Given the description of an element on the screen output the (x, y) to click on. 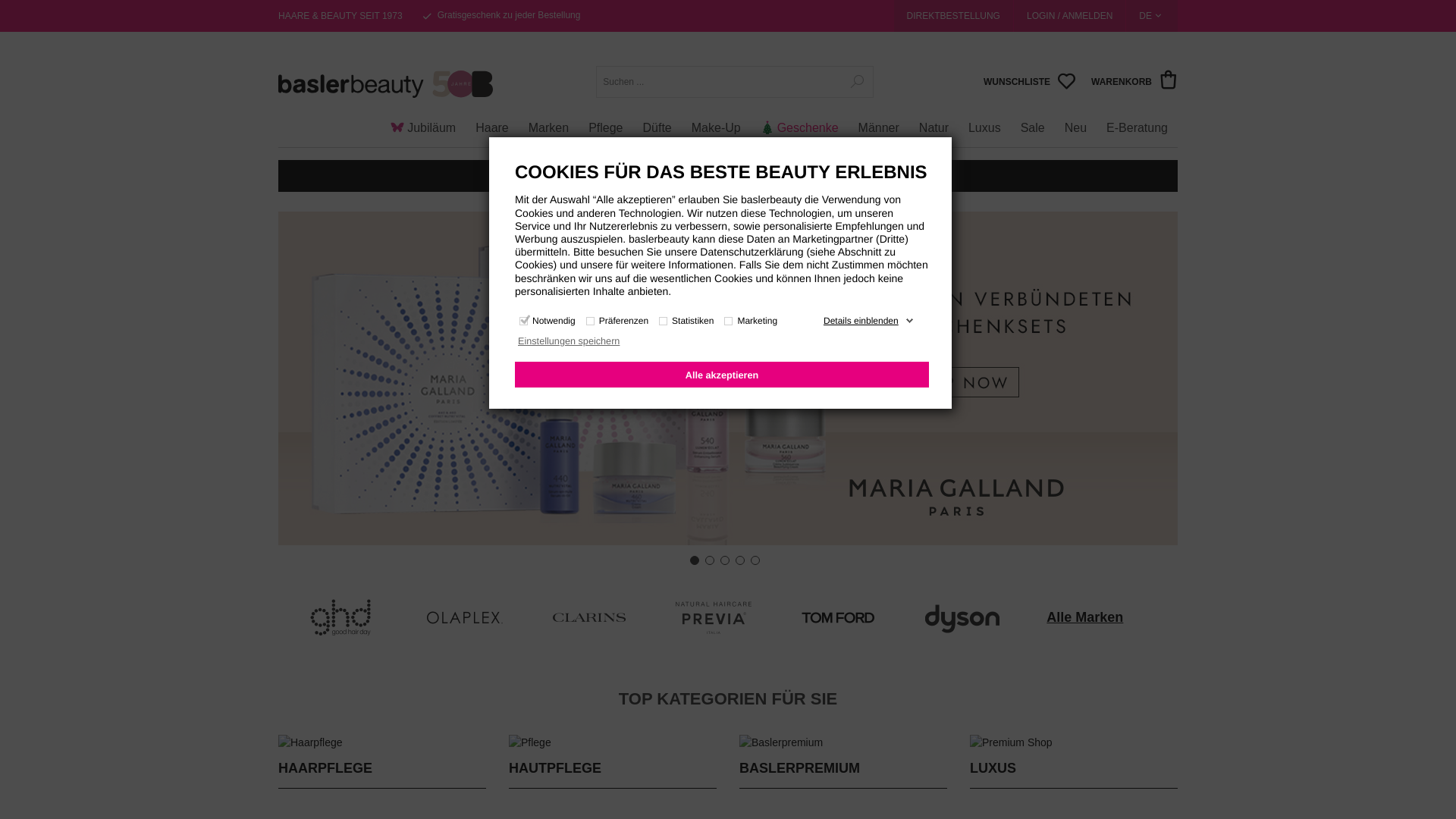
Luxus Element type: text (984, 121)
Einstellungen speichern Element type: text (720, 342)
DIREKTBESTELLUNG Element type: text (953, 15)
WARENKORB Element type: text (1134, 81)
Sale Element type: text (1032, 121)
WUNSCHLISTE Element type: text (1029, 81)
4 Element type: text (739, 559)
Alle akzeptieren Element type: text (721, 374)
Marken Element type: text (548, 121)
LOGIN / ANMELDEN Element type: text (1069, 15)
BASLERPREMIUM Element type: text (799, 768)
Alle Marken Element type: text (1084, 616)
Details einblenden Element type: text (868, 320)
Make-Up Element type: text (715, 121)
1 Element type: text (694, 559)
2 Element type: text (709, 559)
LUXUS Element type: text (992, 768)
HAUTPFLEGE Element type: text (554, 768)
HAARPFLEGE Element type: text (325, 768)
5 Element type: text (755, 559)
Haare Element type: text (491, 121)
E-Beratung Element type: text (1136, 121)
Natur Element type: text (933, 121)
Suchen Element type: hover (851, 81)
3 Element type: text (724, 559)
Neu Element type: text (1075, 121)
Pflege Element type: text (605, 121)
Geschenke Element type: text (799, 121)
